Given the description of an element on the screen output the (x, y) to click on. 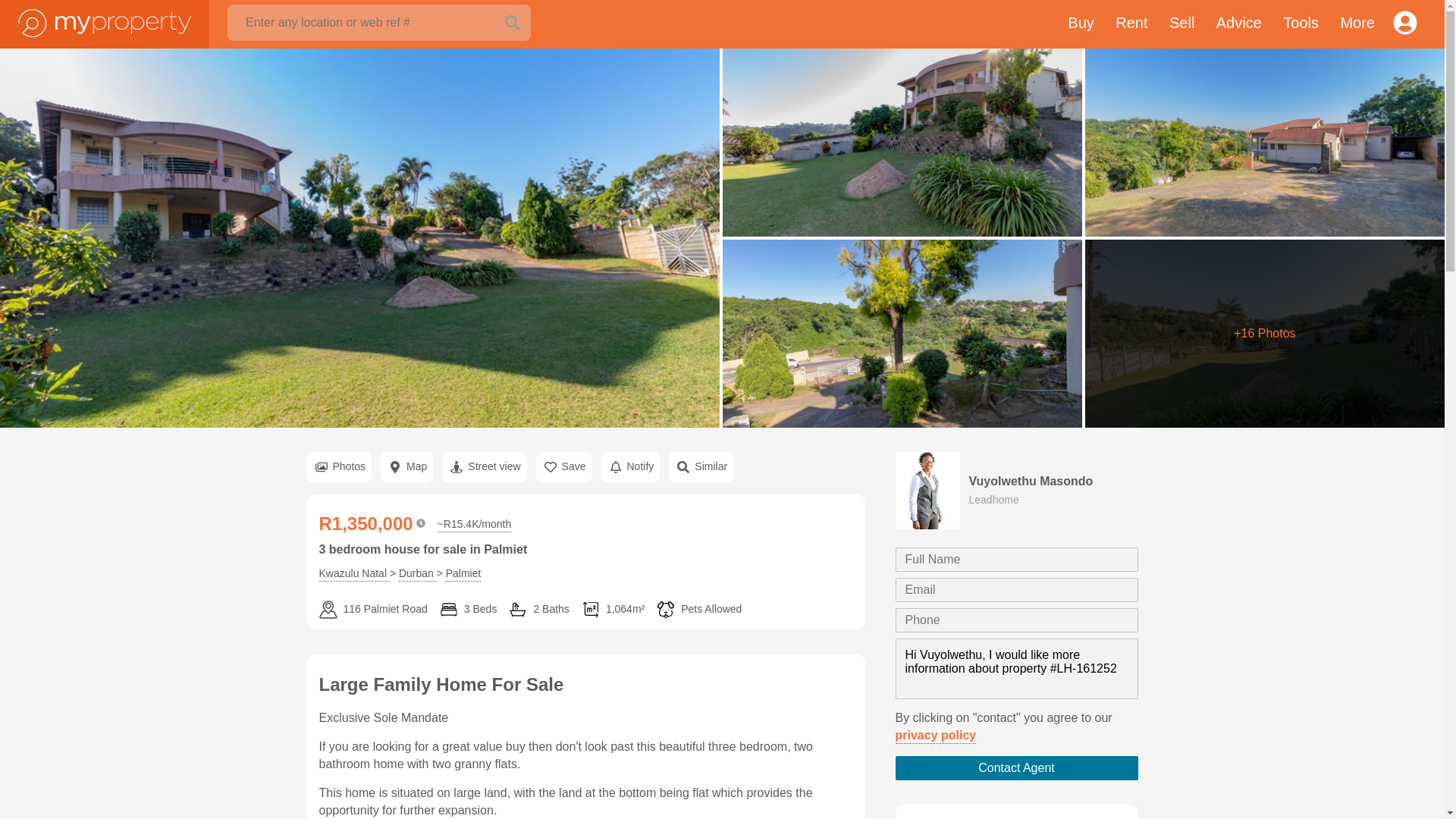
Houses and Properties for sale and rent in South Africa (104, 21)
Sell (1181, 24)
Advice (1238, 24)
Your estimated total monthly repayments, click for details (475, 524)
Pets allowed (698, 610)
Property address (372, 610)
Buy (1080, 24)
Rent (1131, 24)
Tools (1300, 24)
